Given the description of an element on the screen output the (x, y) to click on. 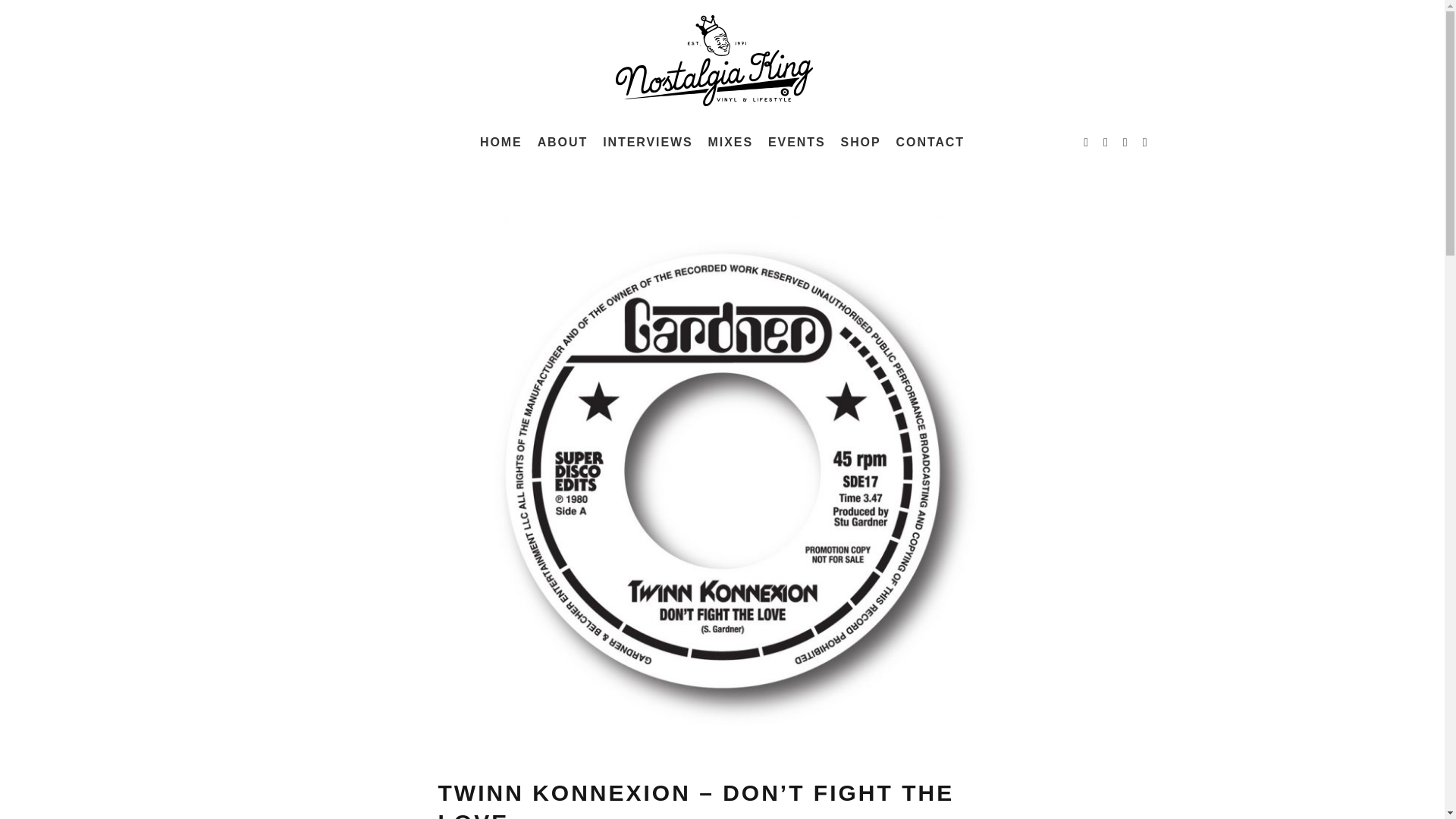
SHOP (860, 142)
INTERVIEWS (647, 142)
MIXES (730, 142)
ABOUT (562, 142)
EVENTS (796, 142)
CONTACT (930, 142)
HOME (500, 142)
